Given the description of an element on the screen output the (x, y) to click on. 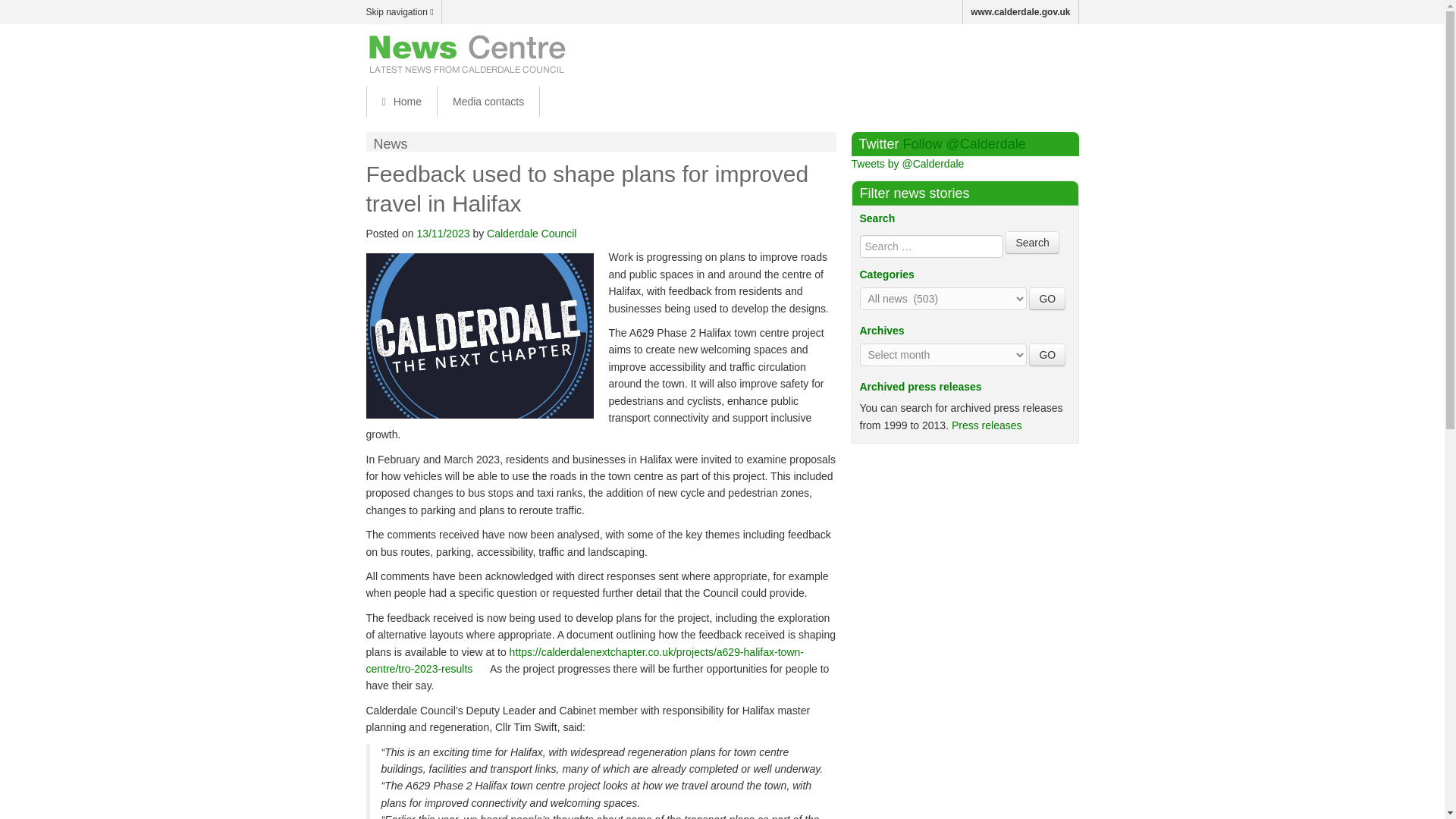
GO (1047, 354)
Home (400, 101)
Twitter (1034, 51)
GO (1047, 298)
Press releases (987, 425)
Home (400, 101)
RSS (1066, 51)
GO (1047, 298)
2:03 pm (442, 233)
Facebook (1002, 51)
